Given the description of an element on the screen output the (x, y) to click on. 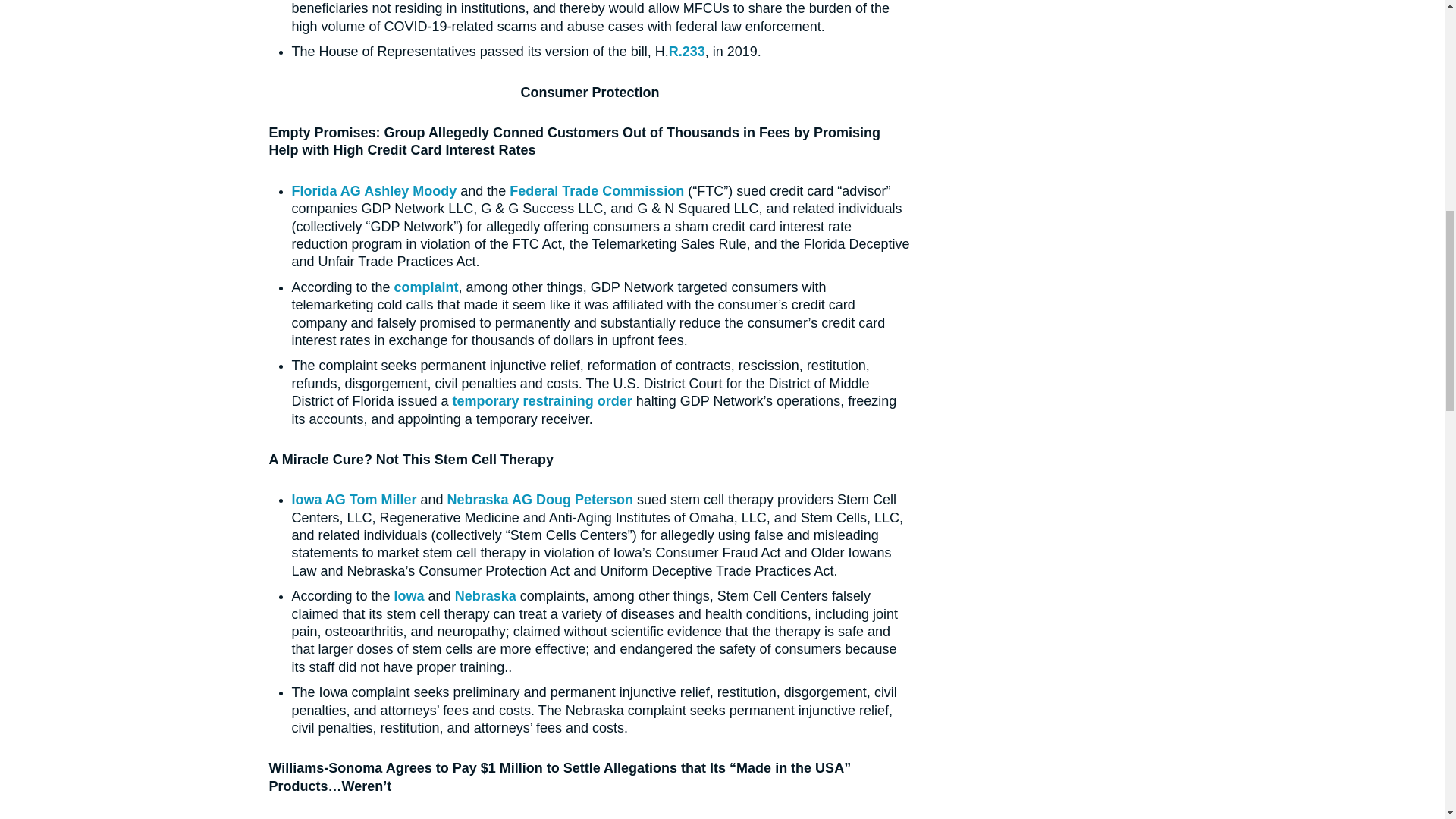
R.233 (686, 51)
